Given the description of an element on the screen output the (x, y) to click on. 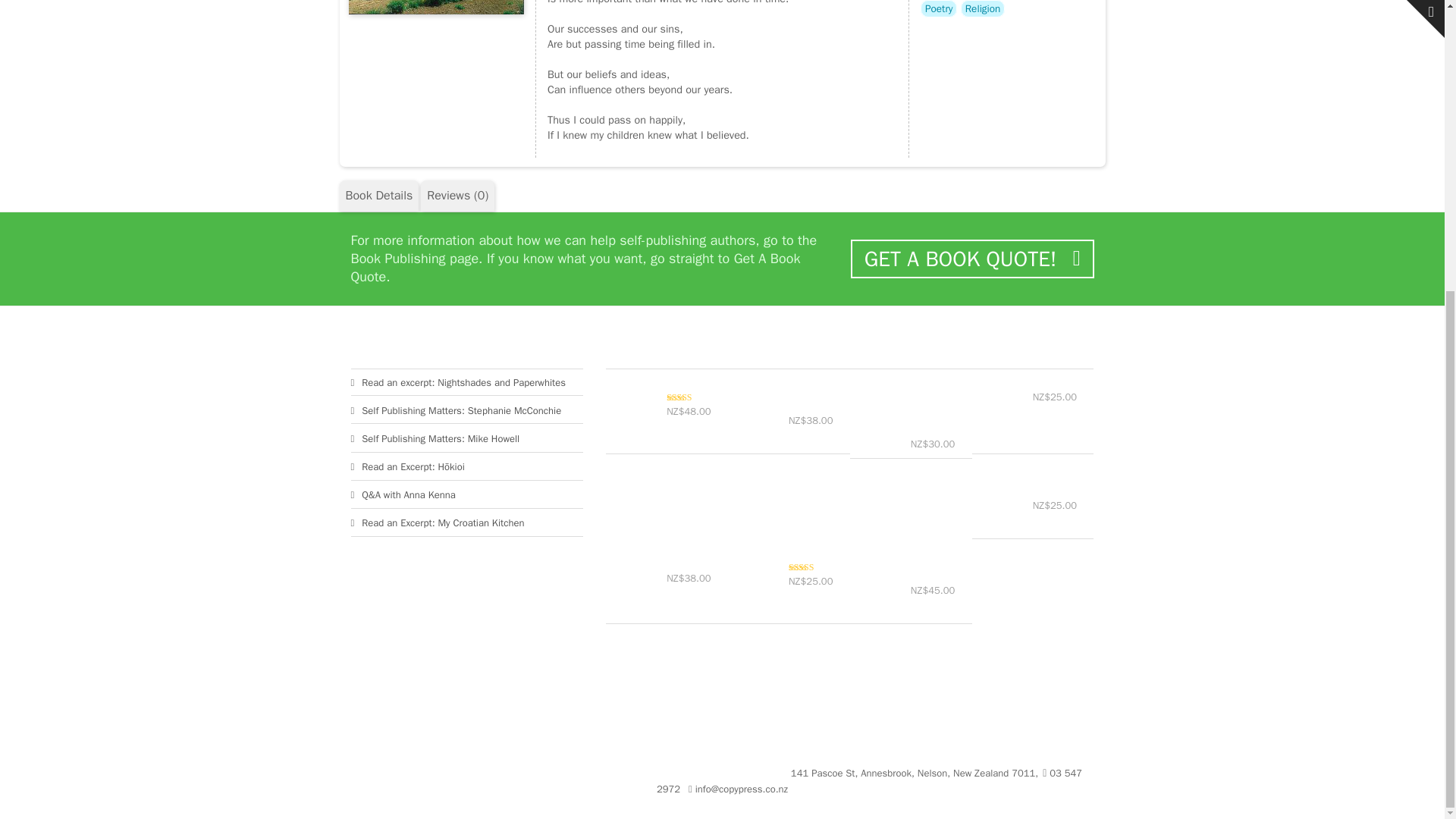
Book Details (379, 195)
Religion (983, 8)
GET A BOOK QUOTE! (971, 258)
Poetry (938, 8)
